Given the description of an element on the screen output the (x, y) to click on. 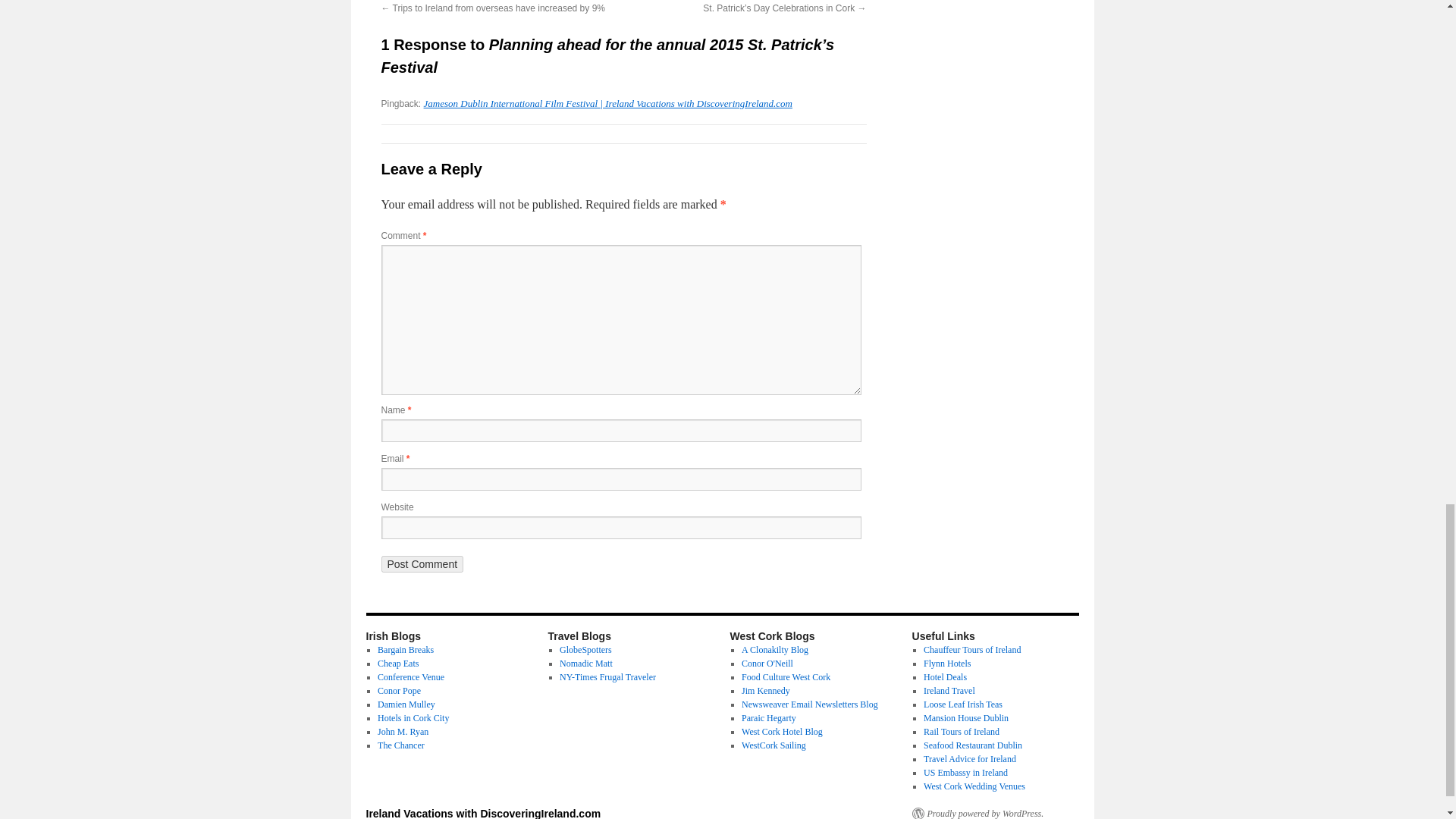
Post Comment (421, 564)
